Given the description of an element on the screen output the (x, y) to click on. 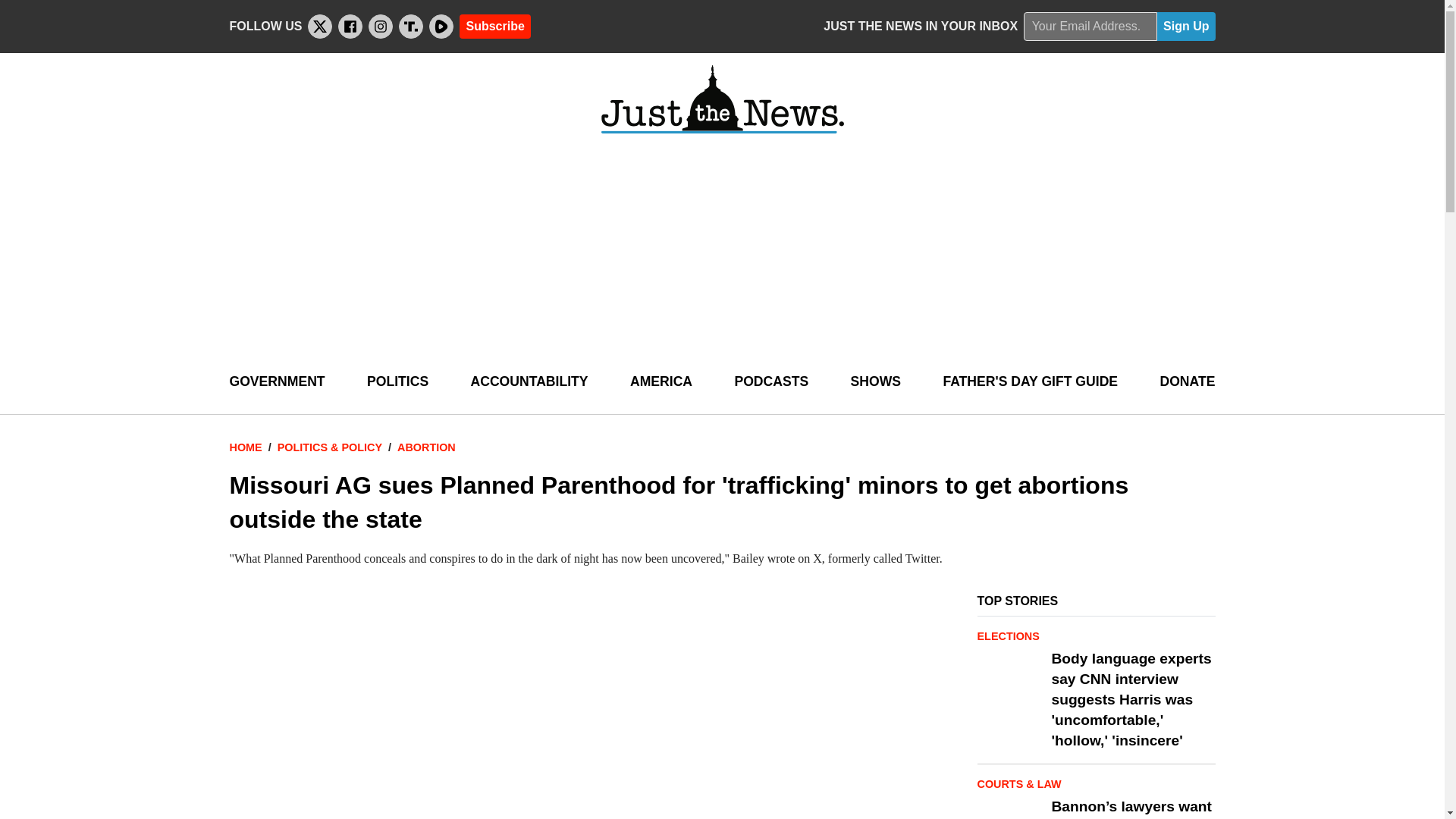
SHOWS (875, 381)
ACCOUNTABILITY (529, 381)
AMERICA (661, 381)
DONATE (1186, 381)
POLITICS (397, 381)
PODCASTS (770, 381)
Sign Up (1185, 26)
FATHER'S DAY GIFT GUIDE (1030, 381)
GOVERNMENT (276, 381)
